Given the description of an element on the screen output the (x, y) to click on. 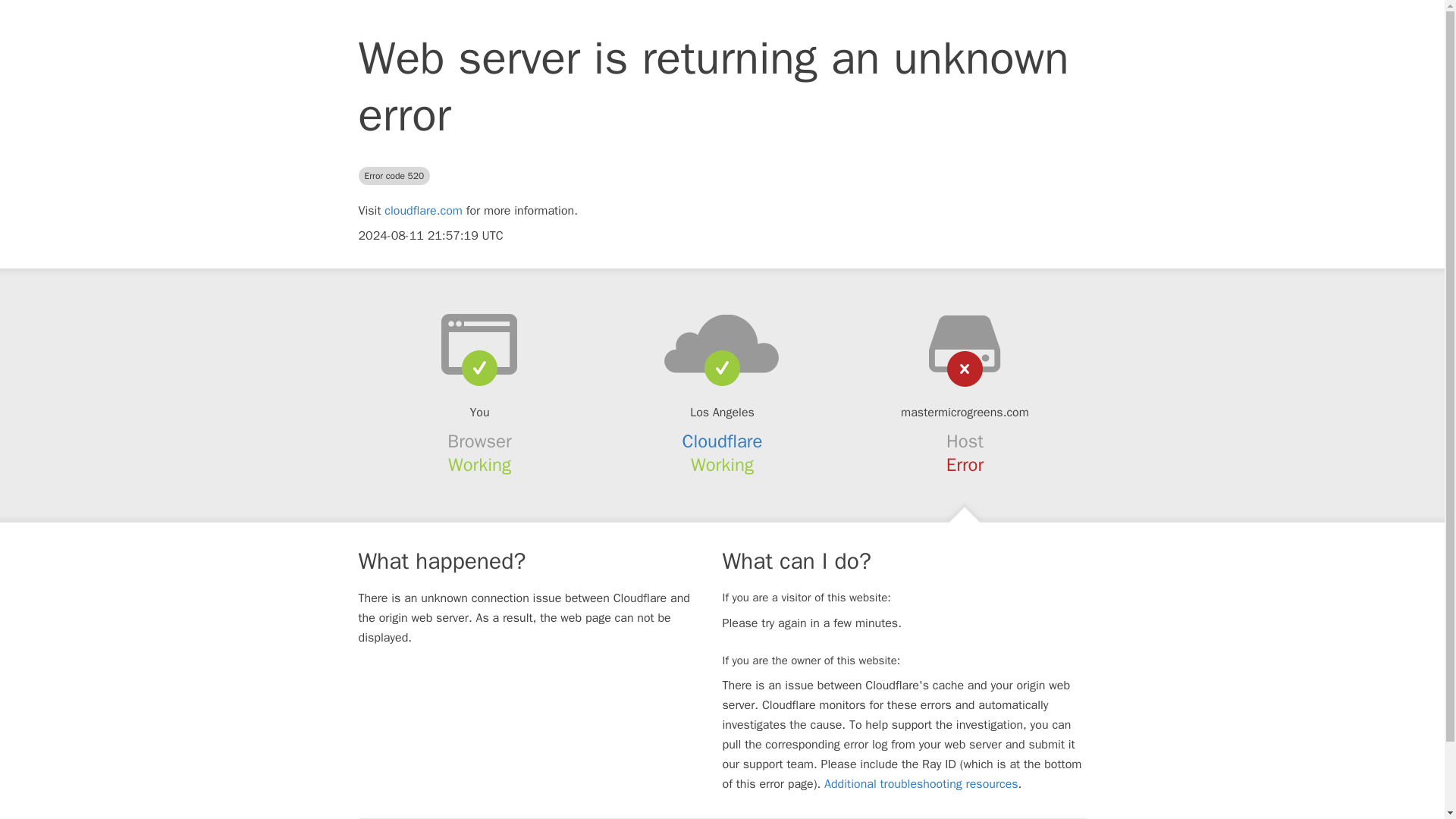
Additional troubleshooting resources (920, 783)
cloudflare.com (423, 210)
Cloudflare (722, 440)
